Given the description of an element on the screen output the (x, y) to click on. 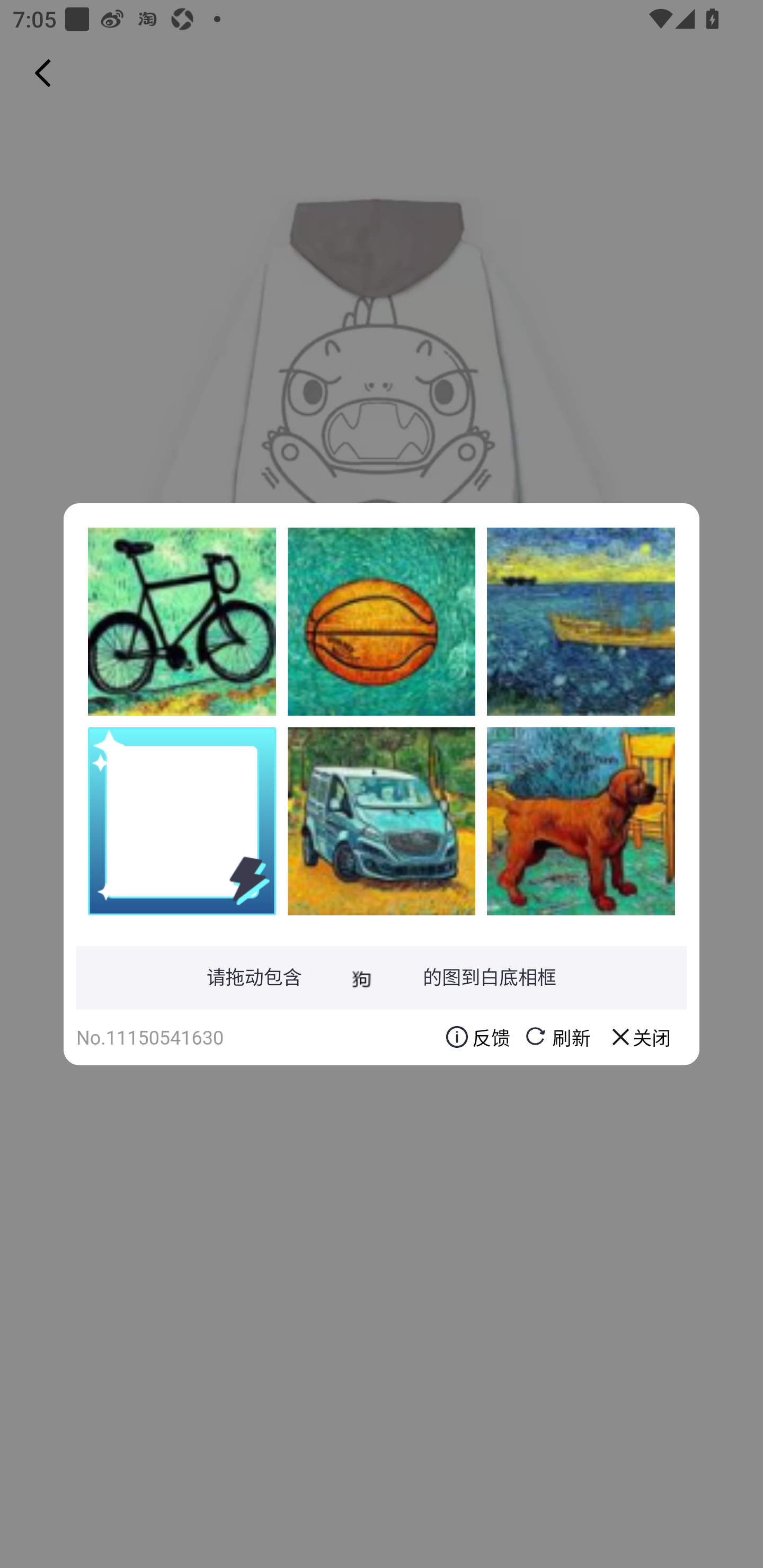
k8dIY (181, 621)
